Given the description of an element on the screen output the (x, y) to click on. 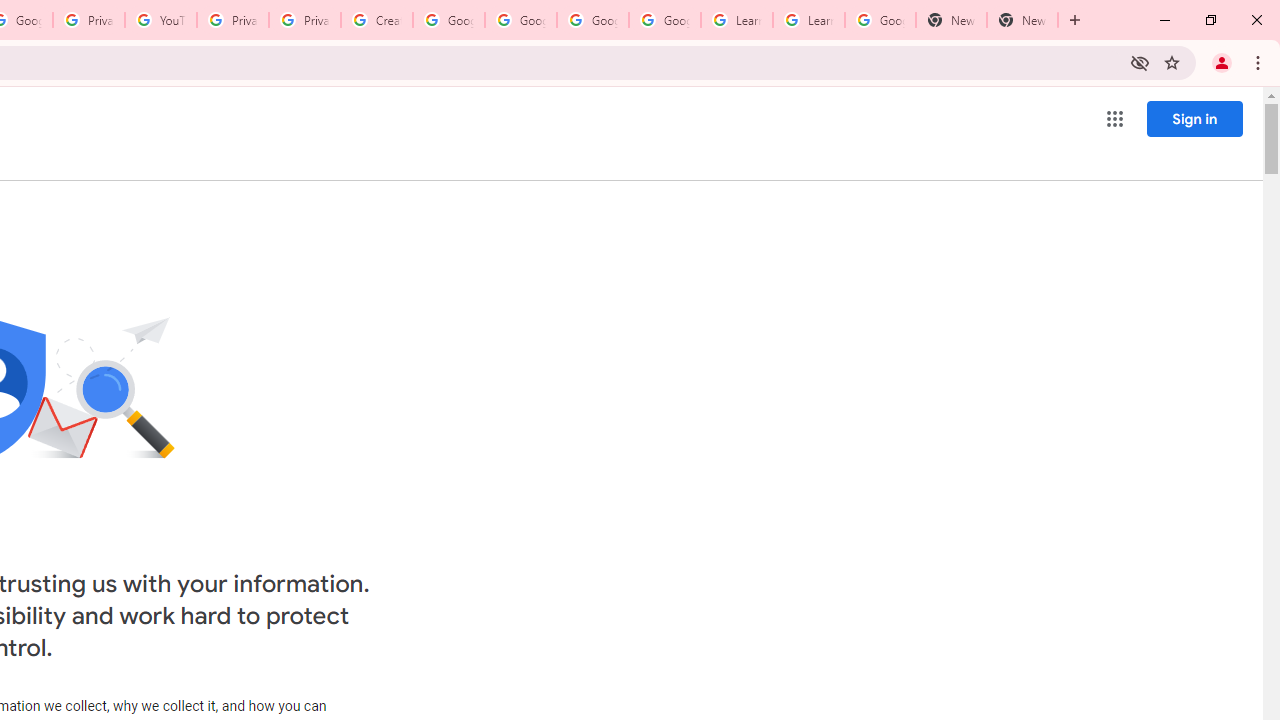
Google Account Help (592, 20)
Google Account Help (520, 20)
Google apps (1114, 118)
Third-party cookies blocked (1139, 62)
Google Account Help (664, 20)
